Given the description of an element on the screen output the (x, y) to click on. 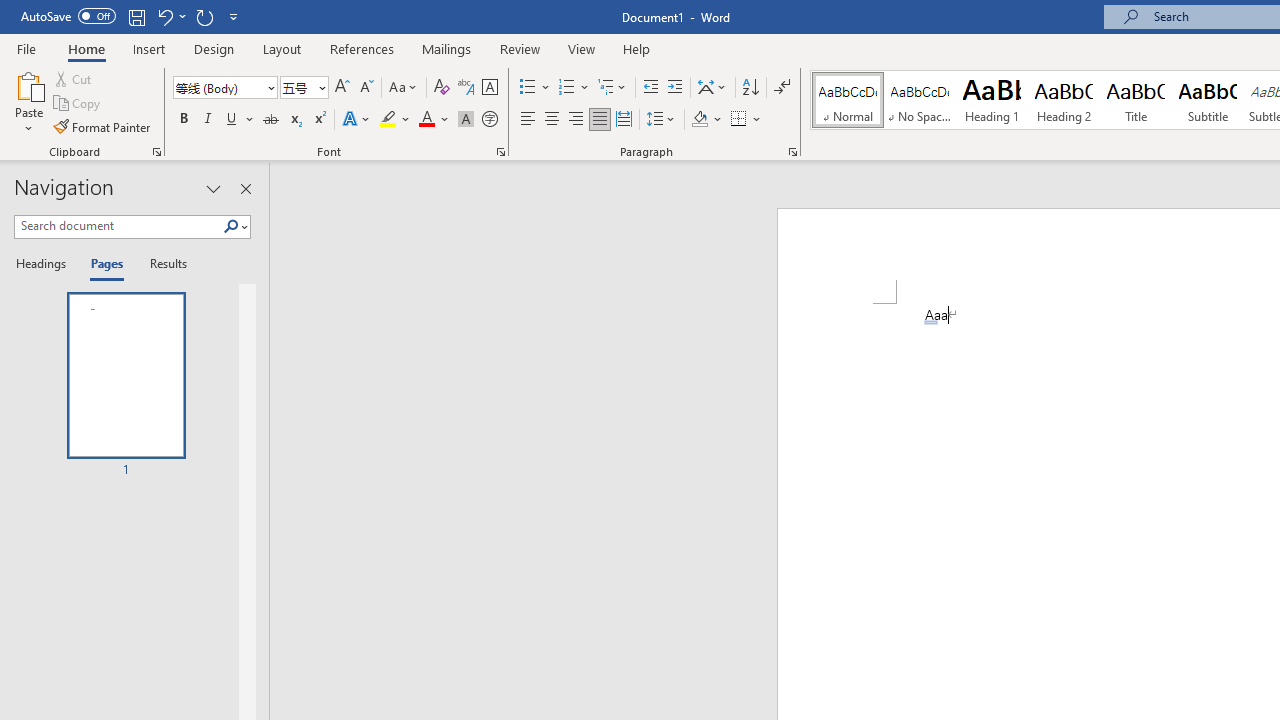
Bold (183, 119)
Grow Font (342, 87)
Design (214, 48)
Multilevel List (613, 87)
Align Right (575, 119)
Underline (239, 119)
Undo Style (164, 15)
Font (224, 87)
Center (552, 119)
Text Highlight Color (395, 119)
Task Pane Options (214, 188)
Repeat Style (204, 15)
Layout (282, 48)
Format Painter (103, 126)
Justify (599, 119)
